Given the description of an element on the screen output the (x, y) to click on. 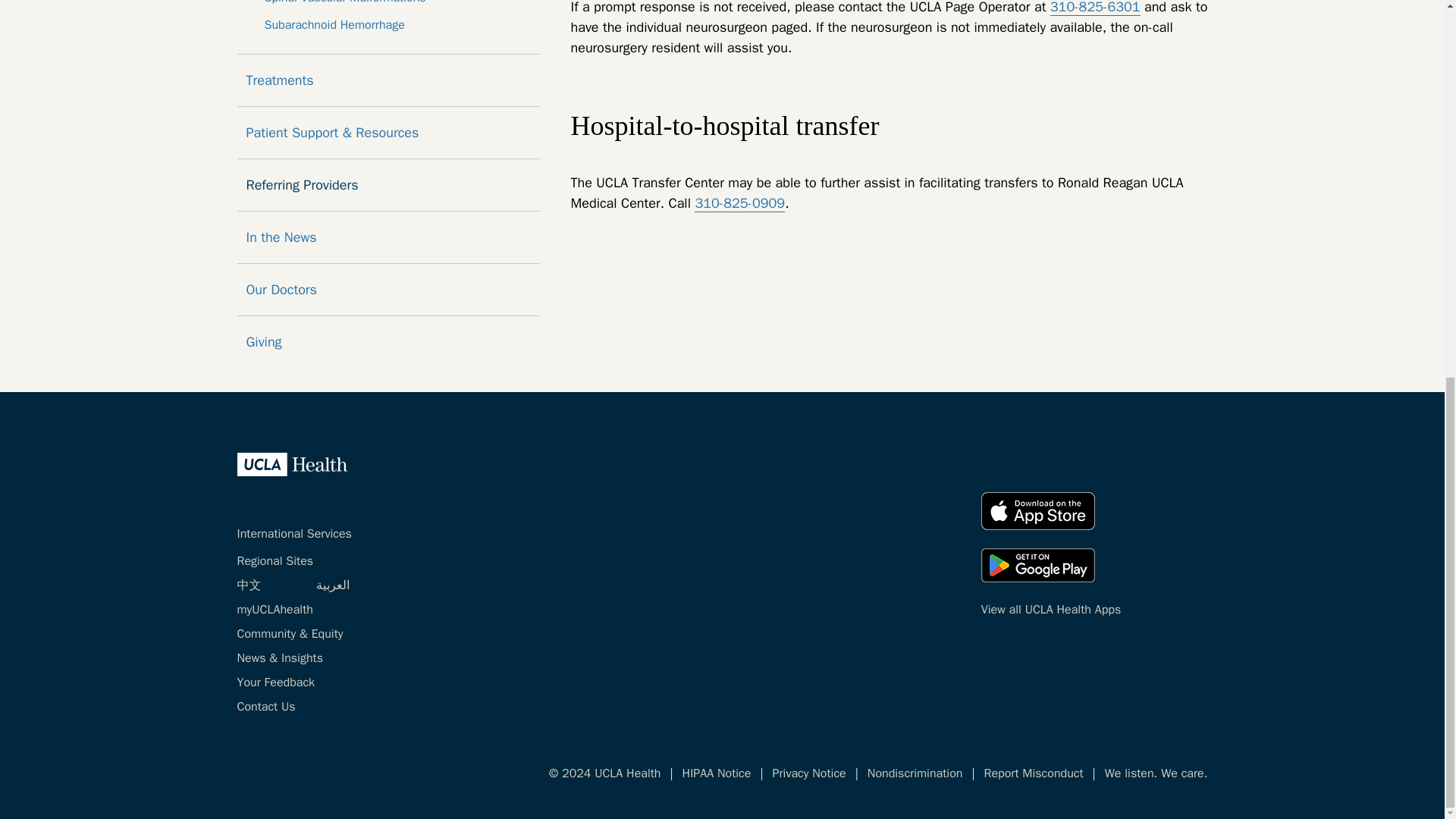
Referring Providers (388, 184)
Subarachnoid Hemorrhage (387, 24)
In the News (388, 237)
Treatments (388, 79)
Spinal Vascular Malformations (387, 3)
